Given the description of an element on the screen output the (x, y) to click on. 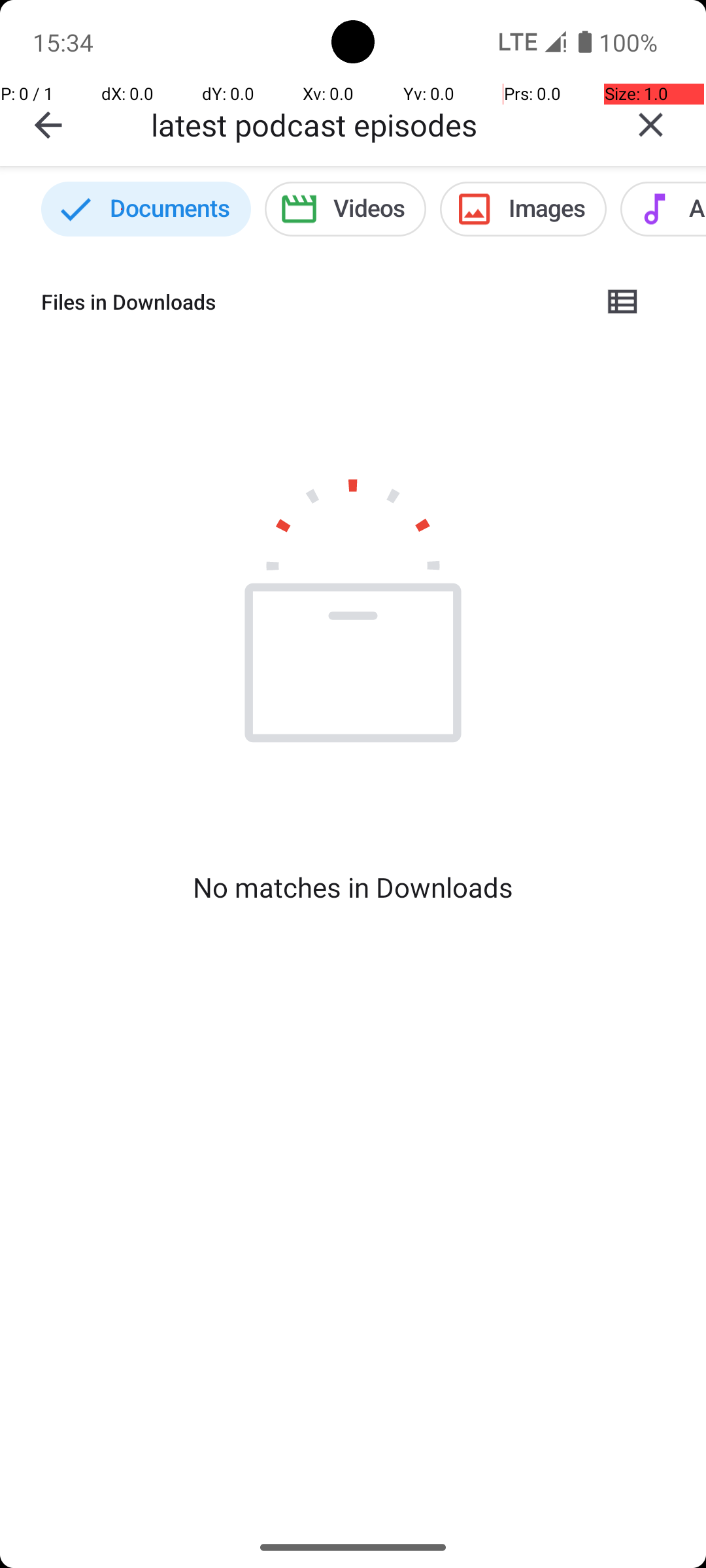
latest podcast episodes Element type: android.widget.AutoCompleteTextView (373, 124)
Clear query Element type: android.widget.ImageView (650, 124)
